Given the description of an element on the screen output the (x, y) to click on. 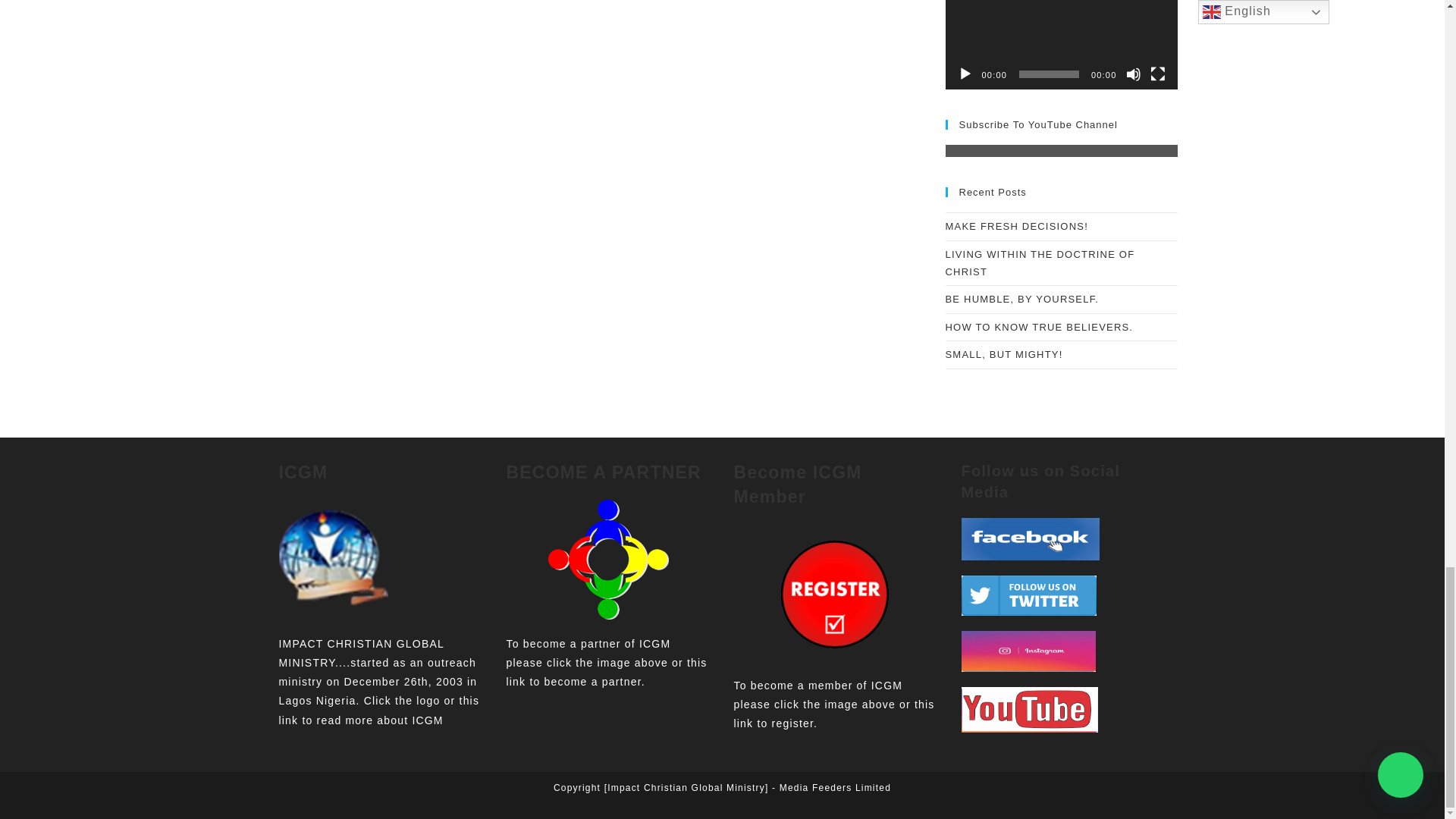
Mute (1132, 73)
Fullscreen (1157, 73)
Play (964, 73)
